Given the description of an element on the screen output the (x, y) to click on. 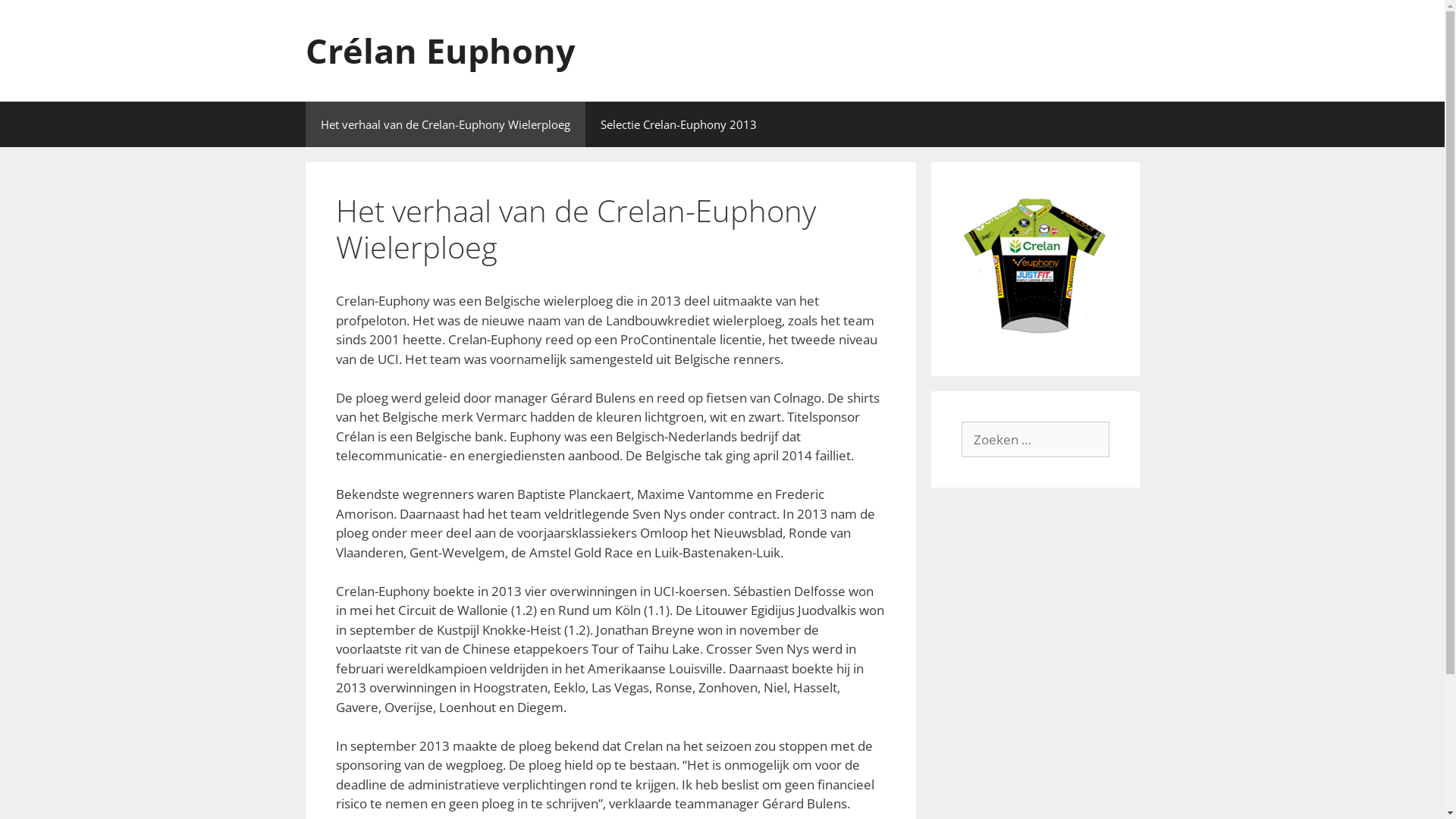
Selectie Crelan-Euphony 2013 Element type: text (678, 124)
Zoeken Element type: text (38, 18)
Zoek naar: Element type: hover (1035, 439)
Het verhaal van de Crelan-Euphony Wielerploeg Element type: text (444, 124)
Spring naar inhoud Element type: text (0, 0)
